Given the description of an element on the screen output the (x, y) to click on. 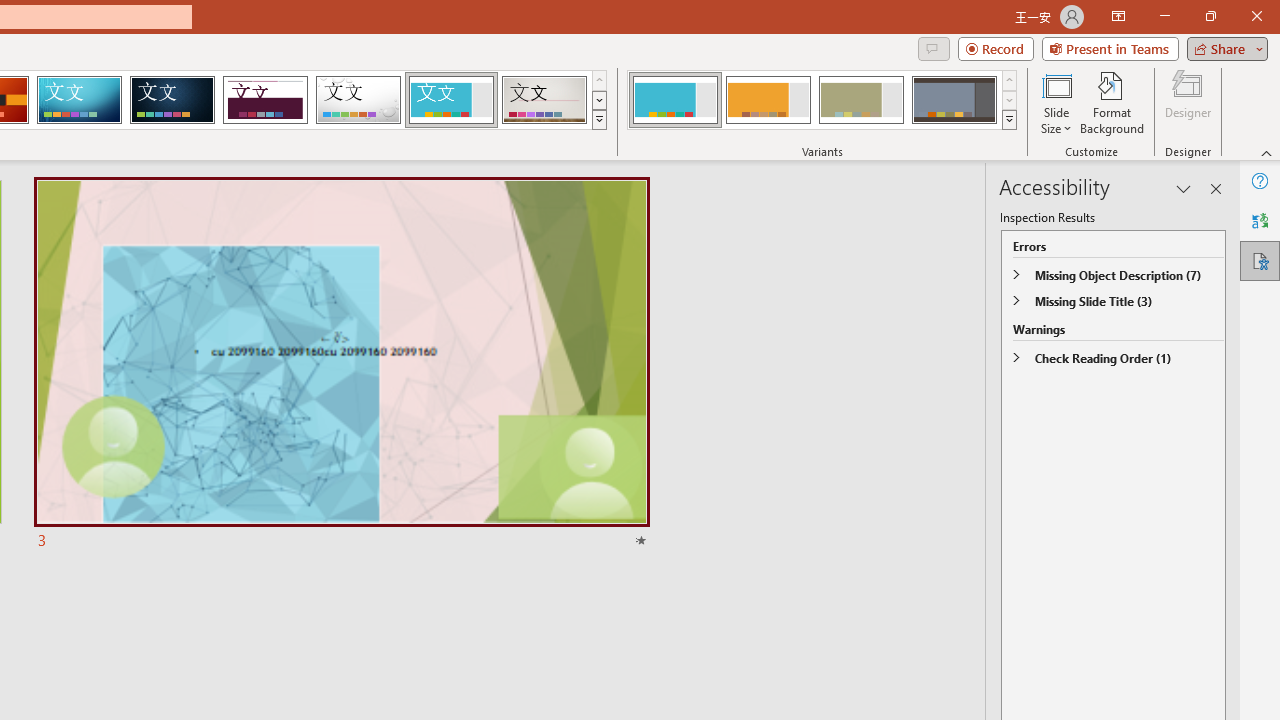
Format Background (1111, 102)
Variants (1009, 120)
Circuit (79, 100)
Dividend (265, 100)
Frame Variant 2 (768, 100)
Frame Variant 1 (674, 100)
Frame Variant 3 (861, 100)
